Given the description of an element on the screen output the (x, y) to click on. 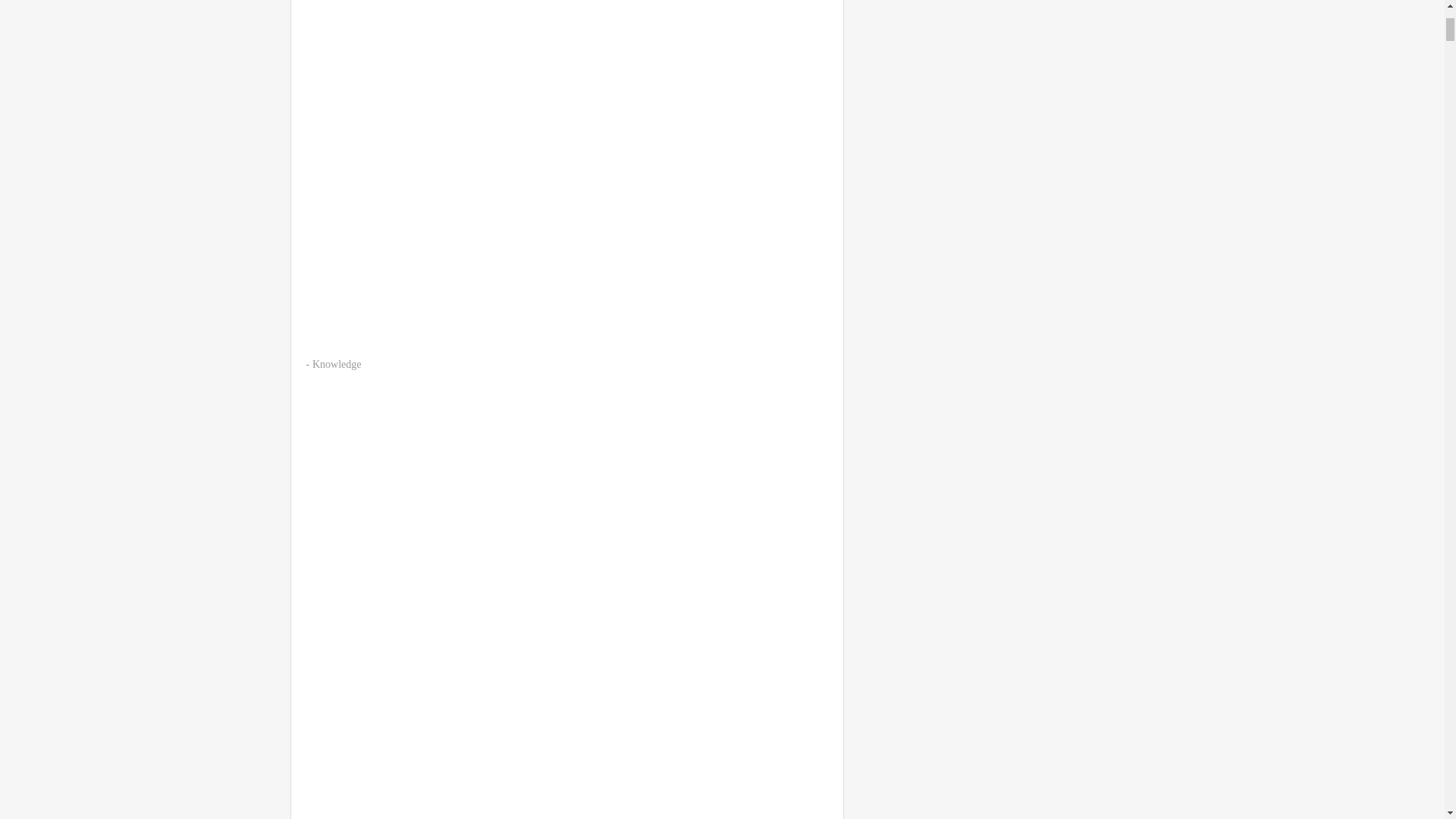
Knowledge (337, 364)
